Given the description of an element on the screen output the (x, y) to click on. 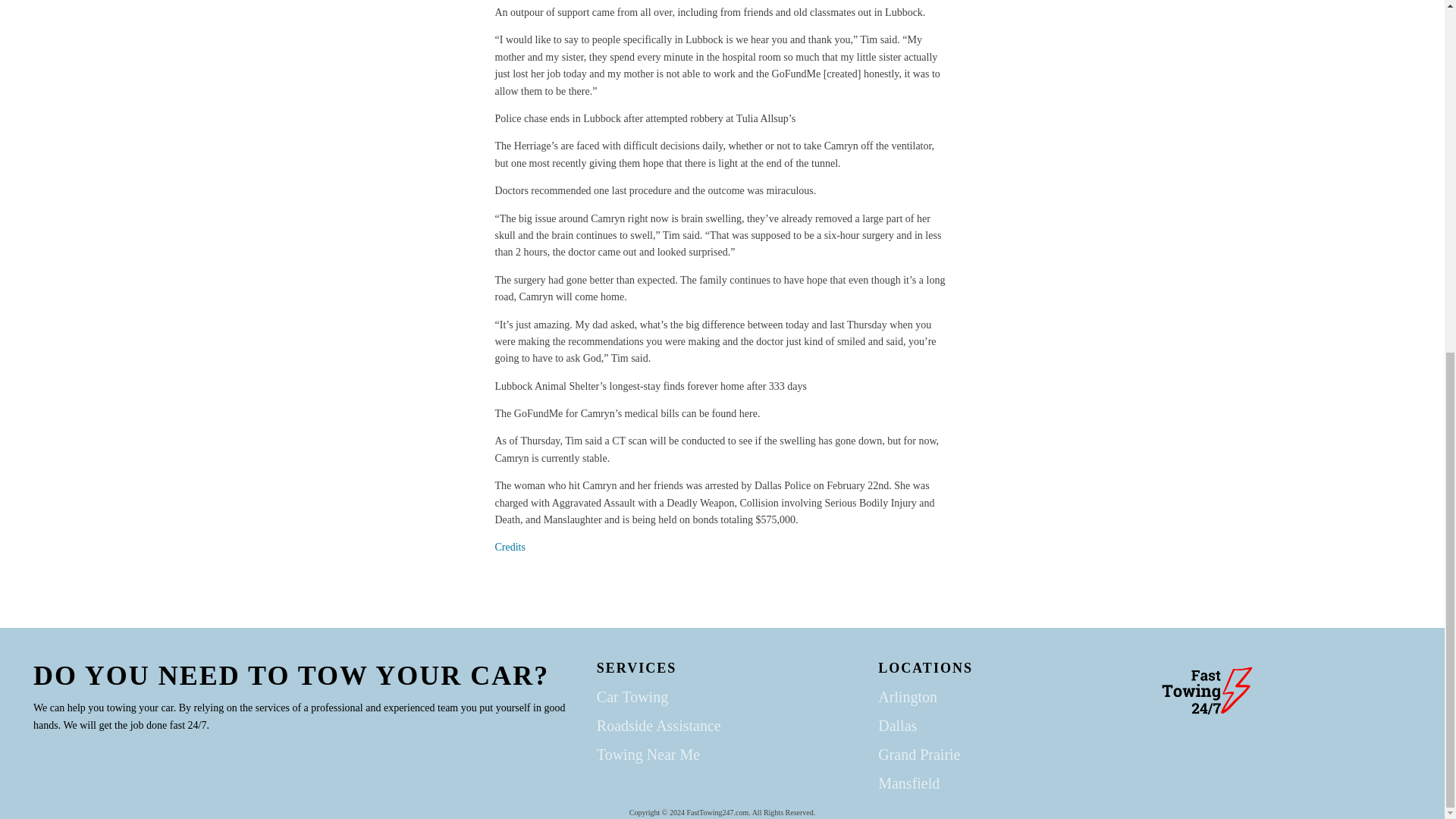
Roadside Assistance (658, 725)
Dallas (897, 725)
Credits (509, 546)
Mansfield (908, 782)
Grand Prairie (918, 754)
Arlington (907, 696)
Car Towing (632, 696)
Towing Near Me (648, 754)
